Given the description of an element on the screen output the (x, y) to click on. 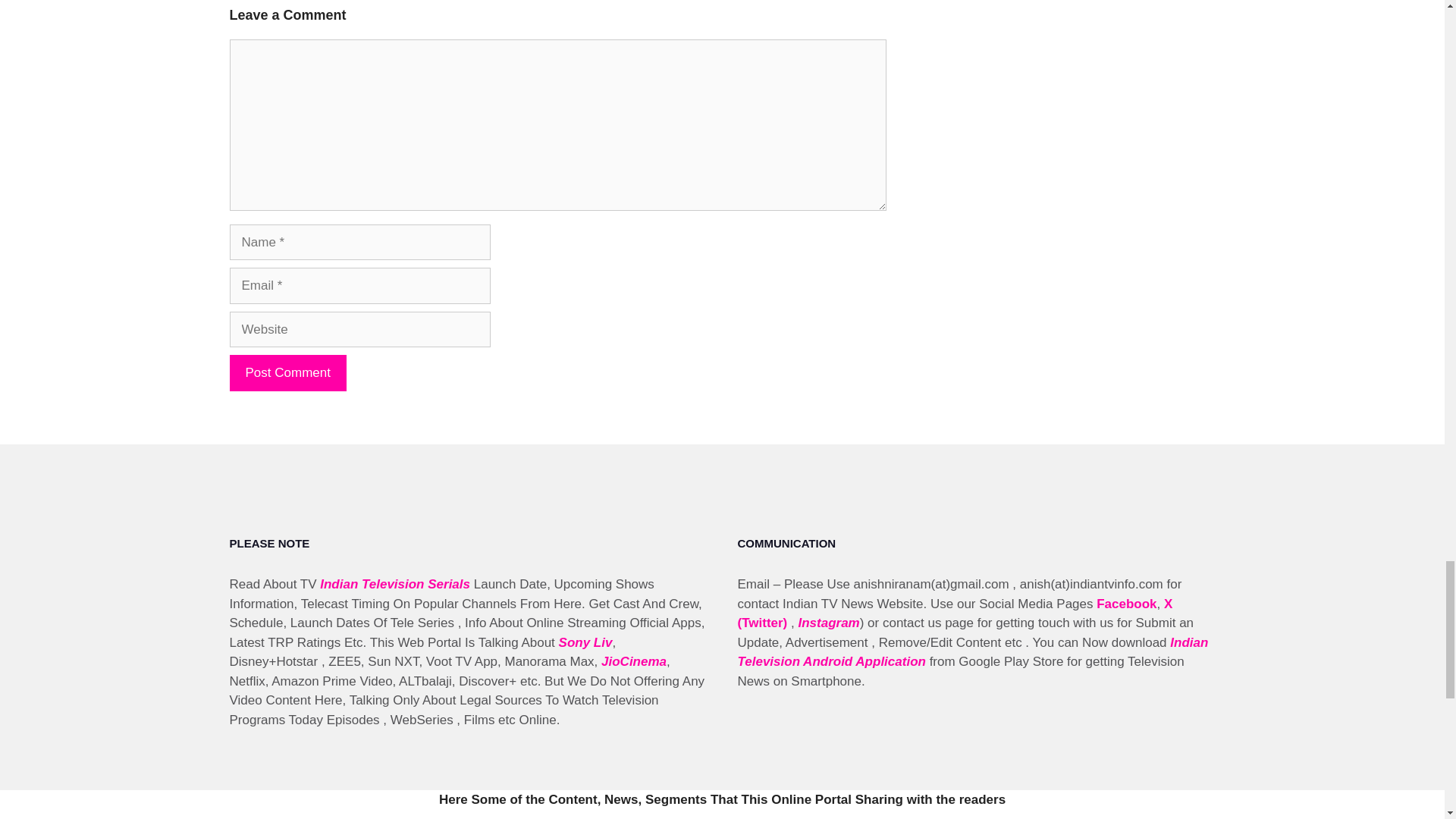
Post Comment (287, 372)
